Given the description of an element on the screen output the (x, y) to click on. 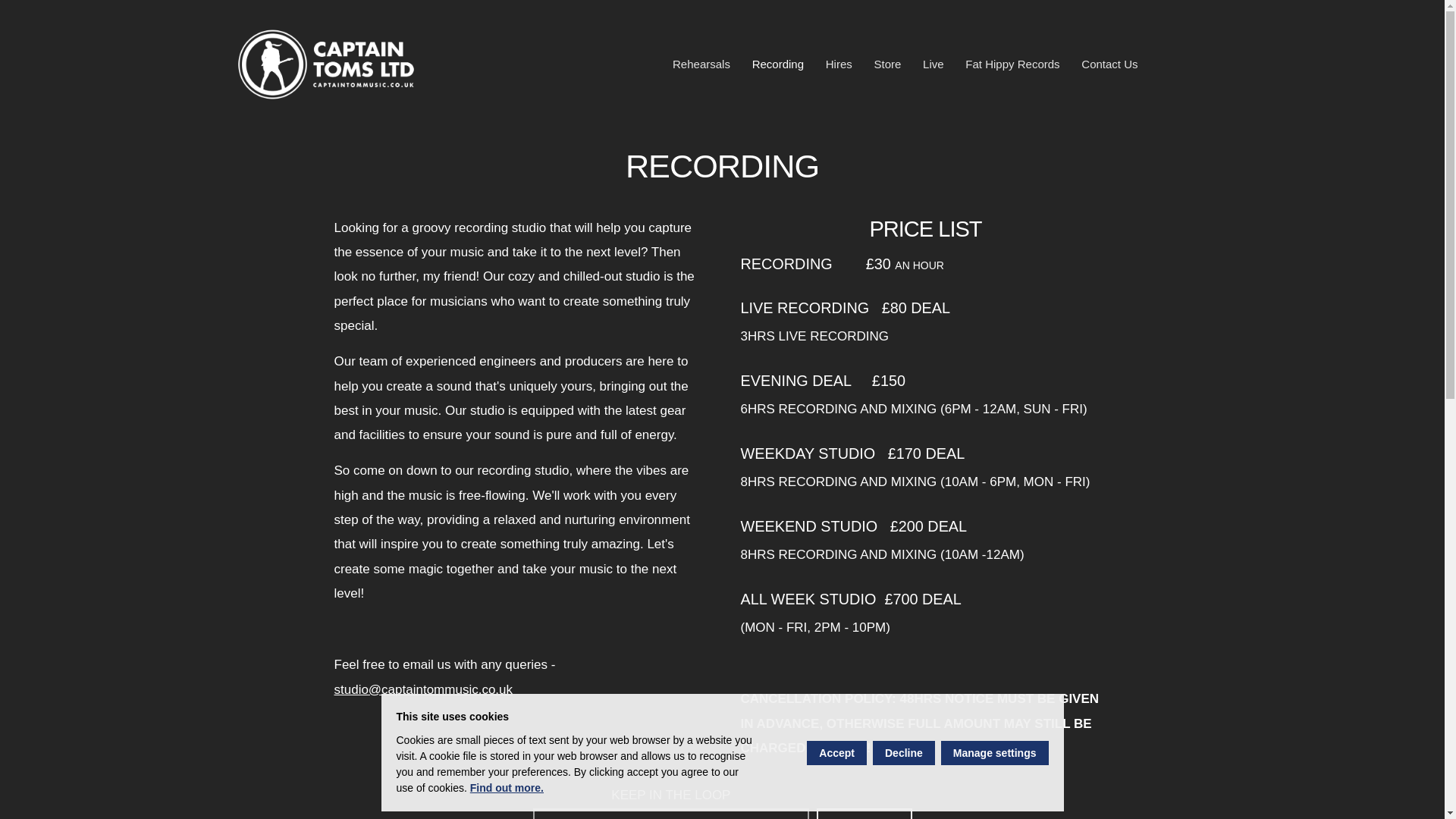
Decline (903, 752)
Manage settings (994, 752)
Store (887, 64)
Live (933, 64)
Find out more. (506, 787)
Contact Us (1109, 64)
SEND (863, 813)
Recording (777, 64)
Rehearsals (701, 64)
Fat Hippy Records (1012, 64)
